Given the description of an element on the screen output the (x, y) to click on. 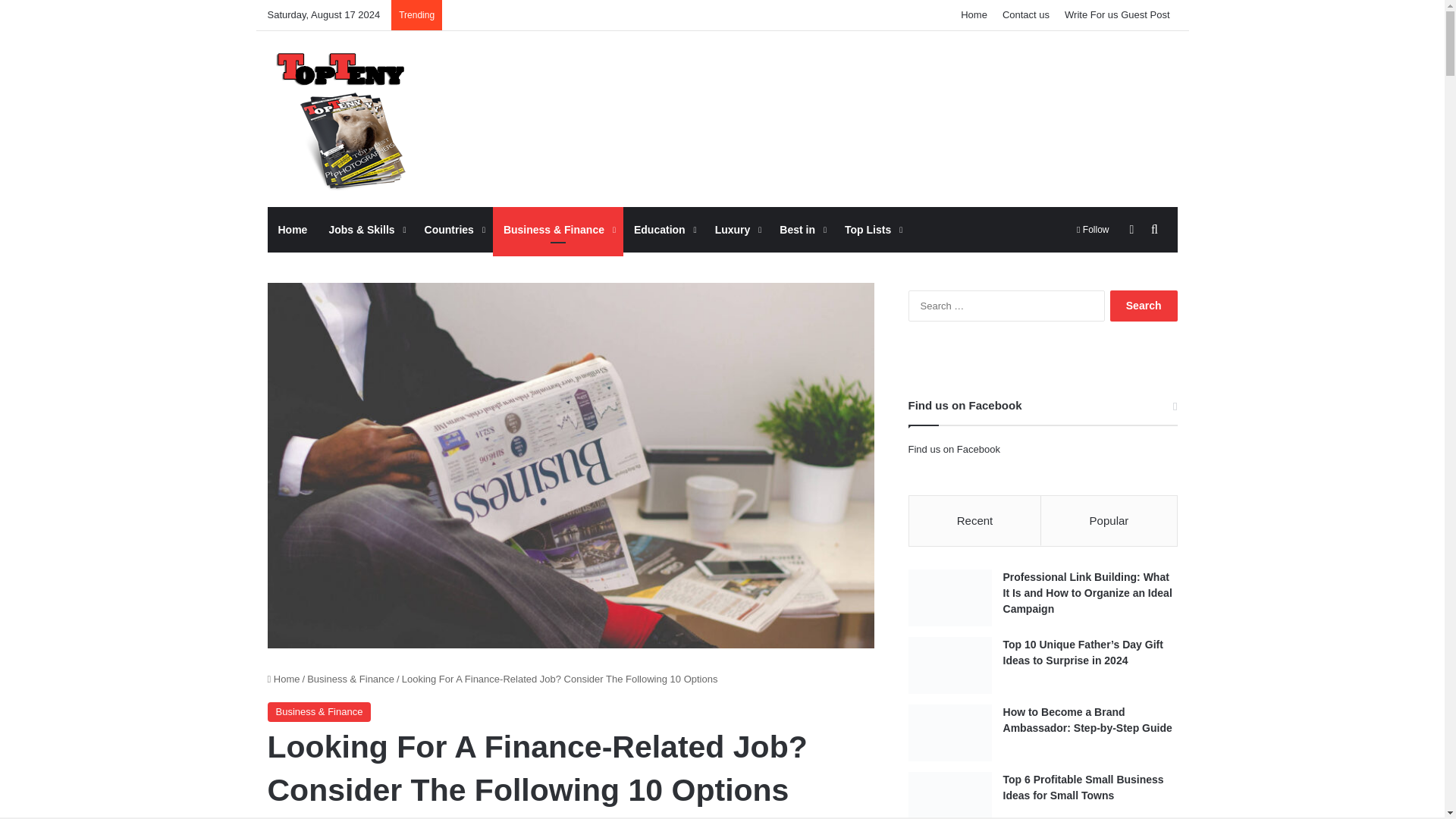
Best in (801, 229)
Luxury (737, 229)
Write For us Guest Post (1116, 15)
Education (663, 229)
Contact us (1025, 15)
Countries (453, 229)
Search (1143, 305)
TopTeny Magazine (339, 118)
Home (973, 15)
Home (291, 229)
